Given the description of an element on the screen output the (x, y) to click on. 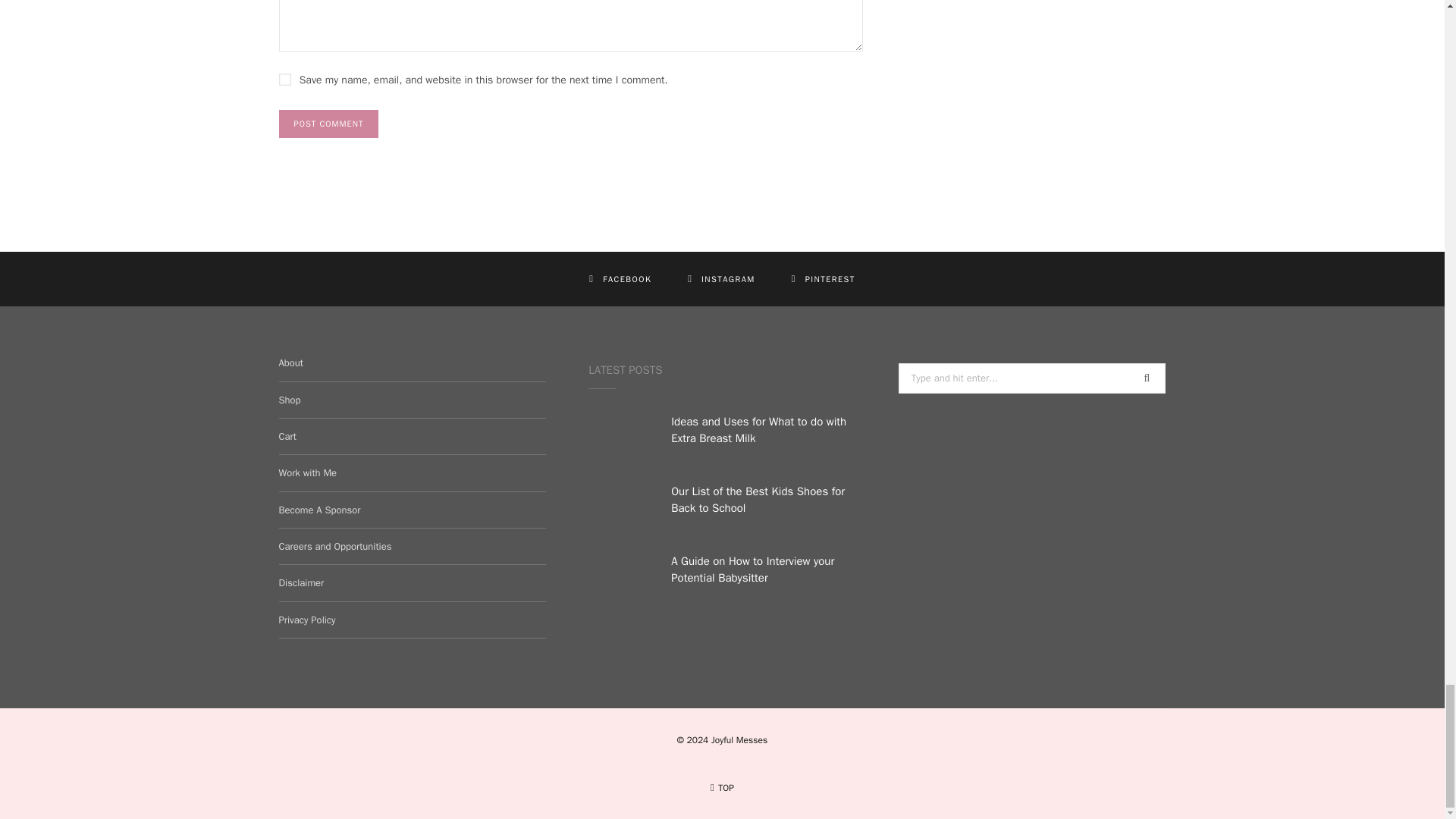
Ideas and Uses for What to do with Extra Breast Milk (620, 440)
Our List of the Best Kids Shoes for Back to School (620, 509)
Search for: (1032, 378)
Post Comment (328, 123)
A Guide on How to Interview your Potential Babysitter (620, 579)
yes (285, 79)
